Given the description of an element on the screen output the (x, y) to click on. 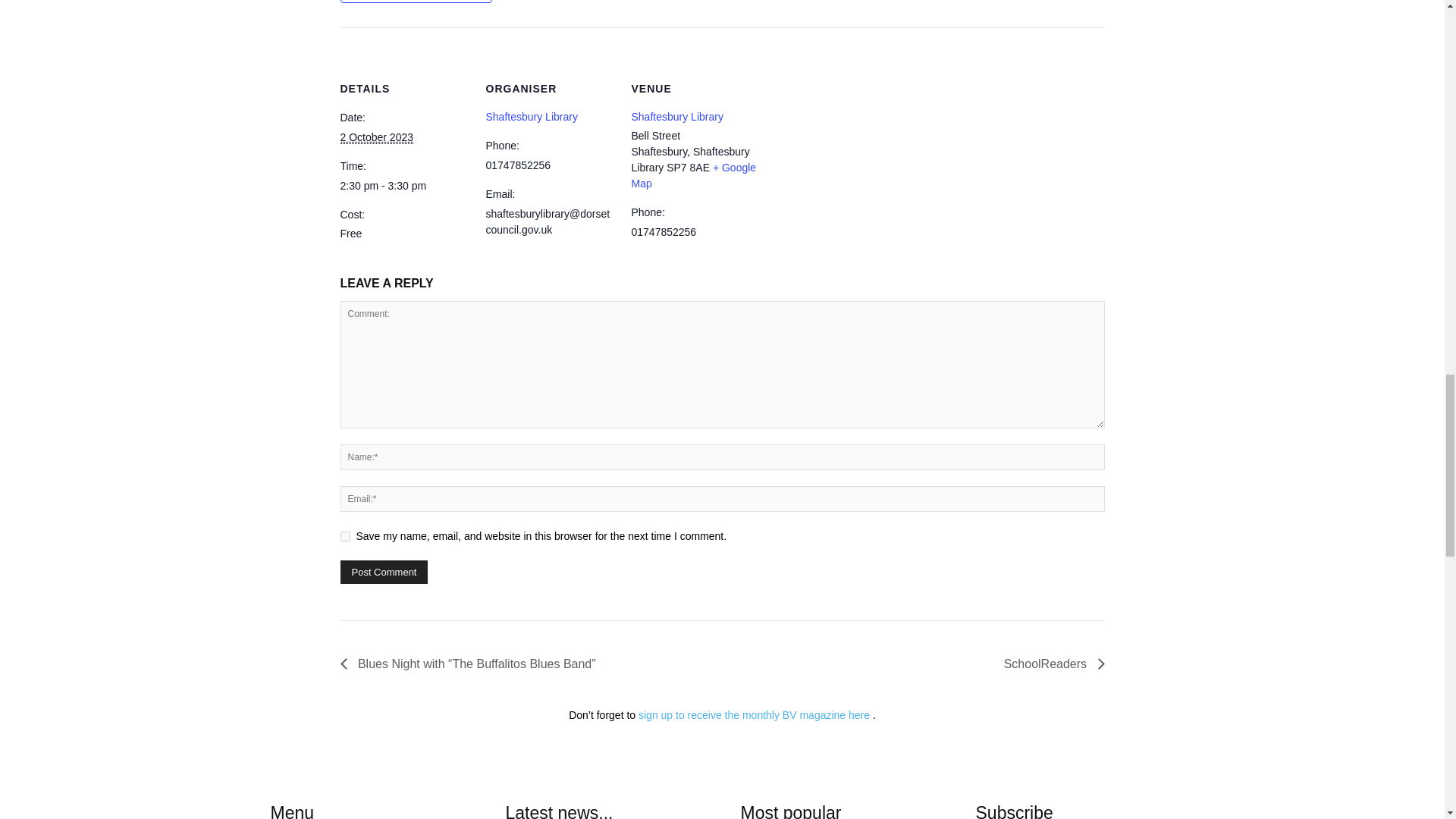
Post Comment (383, 571)
2023-10-02 (403, 186)
Click to view a Google Map (692, 175)
2023-10-02 (376, 137)
Shaftesbury Library (530, 116)
yes (344, 536)
